Given the description of an element on the screen output the (x, y) to click on. 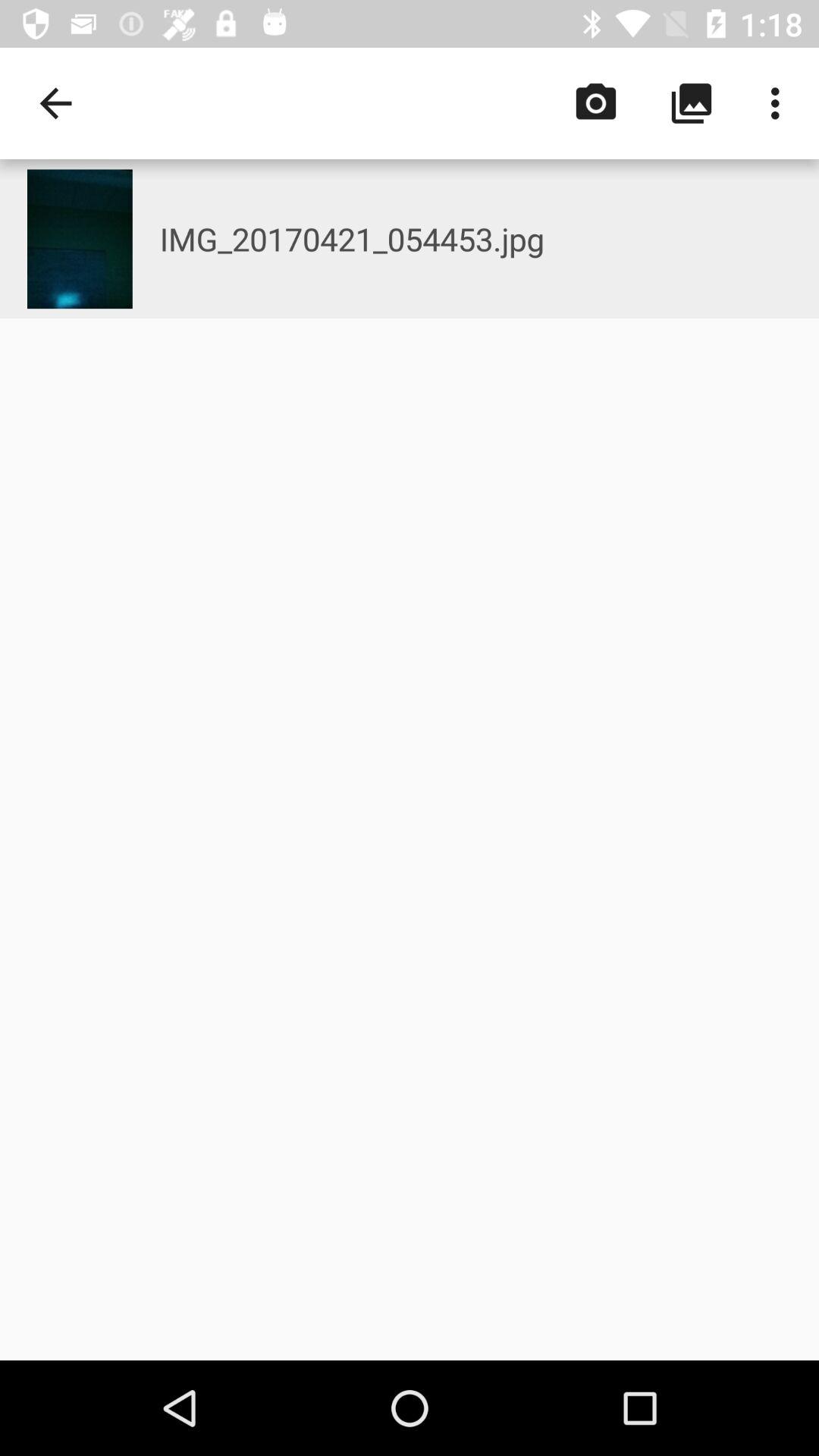
turn off item next to the img_20170421_054453.jpg item (55, 103)
